Given the description of an element on the screen output the (x, y) to click on. 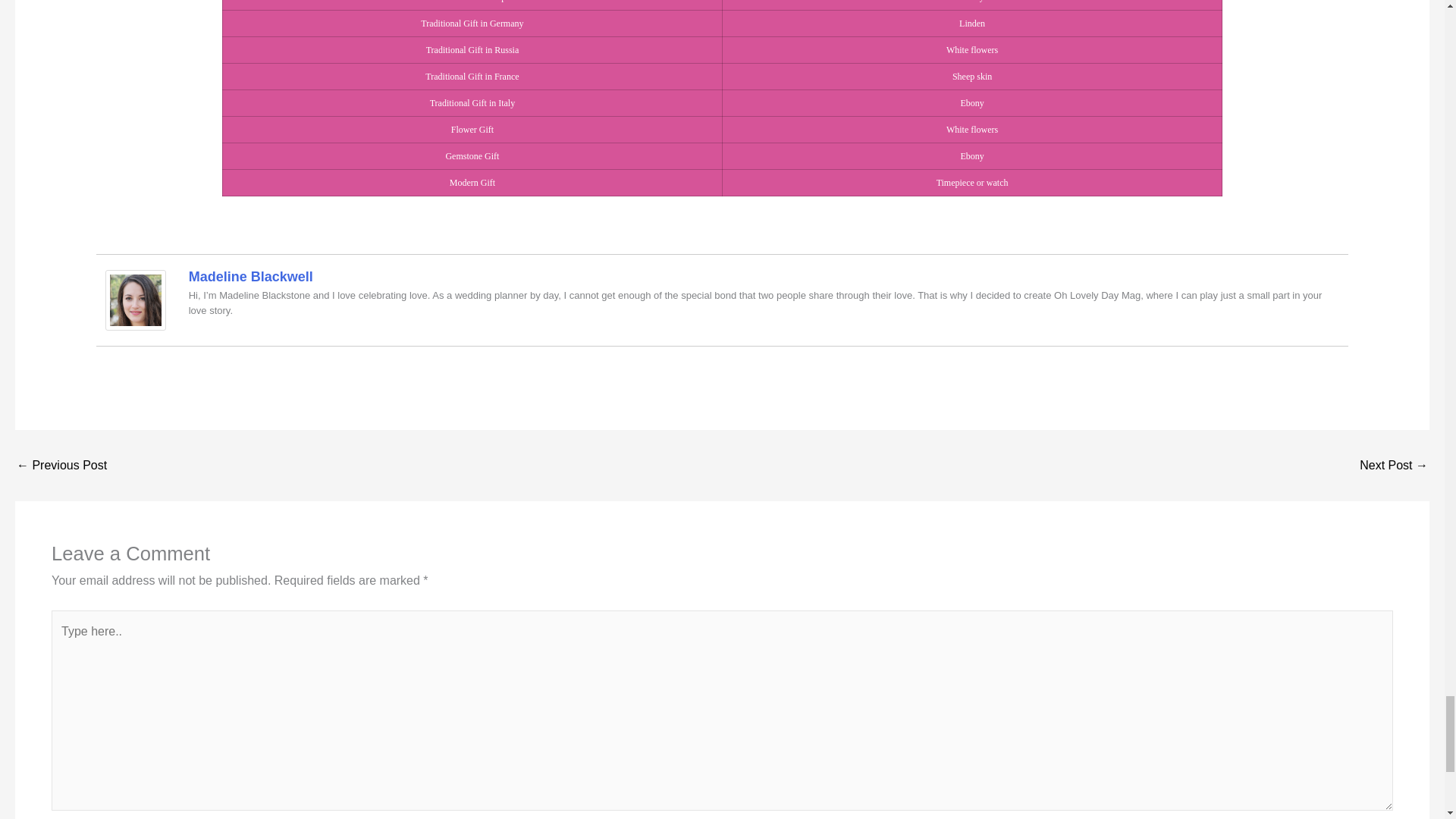
10th Year Anniversary Gifts (1393, 465)
Madeline Blackwell (134, 298)
43rd Year Anniversary Gifts (61, 465)
